Given the description of an element on the screen output the (x, y) to click on. 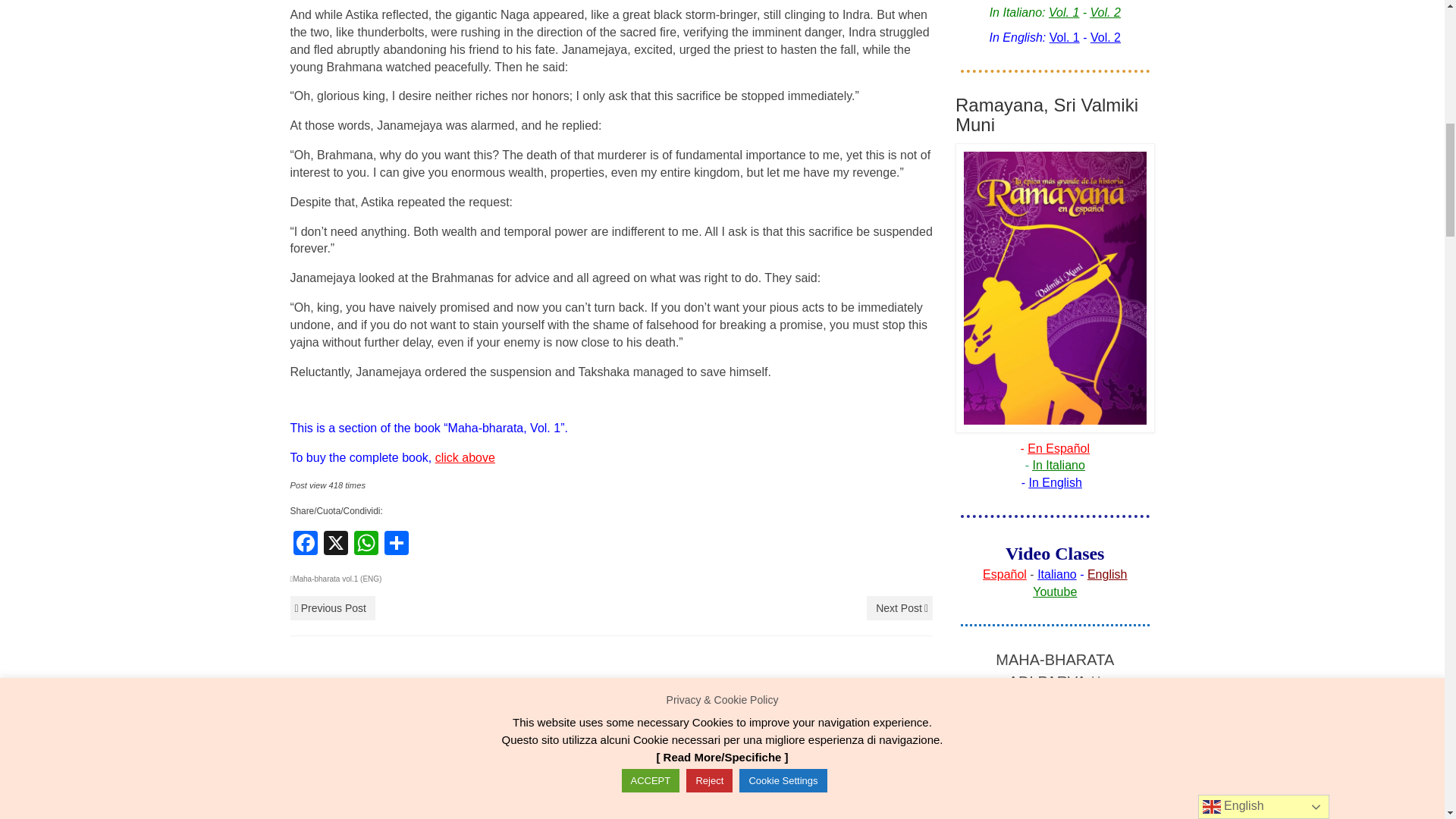
Code Block (470, 816)
Bold (342, 816)
X (335, 544)
Facebook (304, 544)
Italic (363, 816)
Spoiler (531, 816)
Underline (385, 816)
Ordered List (406, 816)
WhatsApp (365, 544)
Source Code (510, 816)
Link (491, 816)
Blockquote (449, 816)
Unordered List (427, 816)
